Given the description of an element on the screen output the (x, y) to click on. 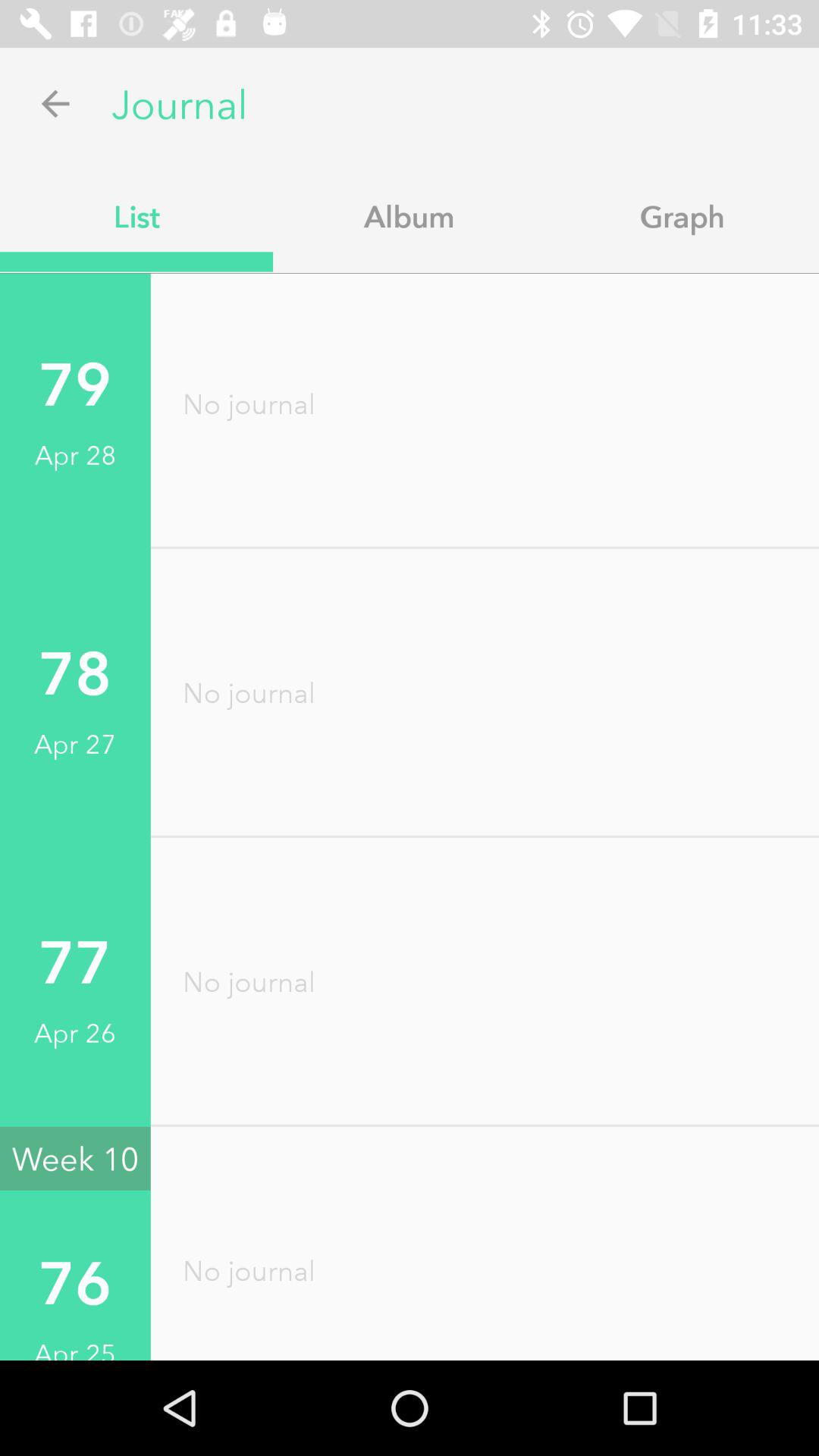
launch icon next to the journal item (55, 103)
